Given the description of an element on the screen output the (x, y) to click on. 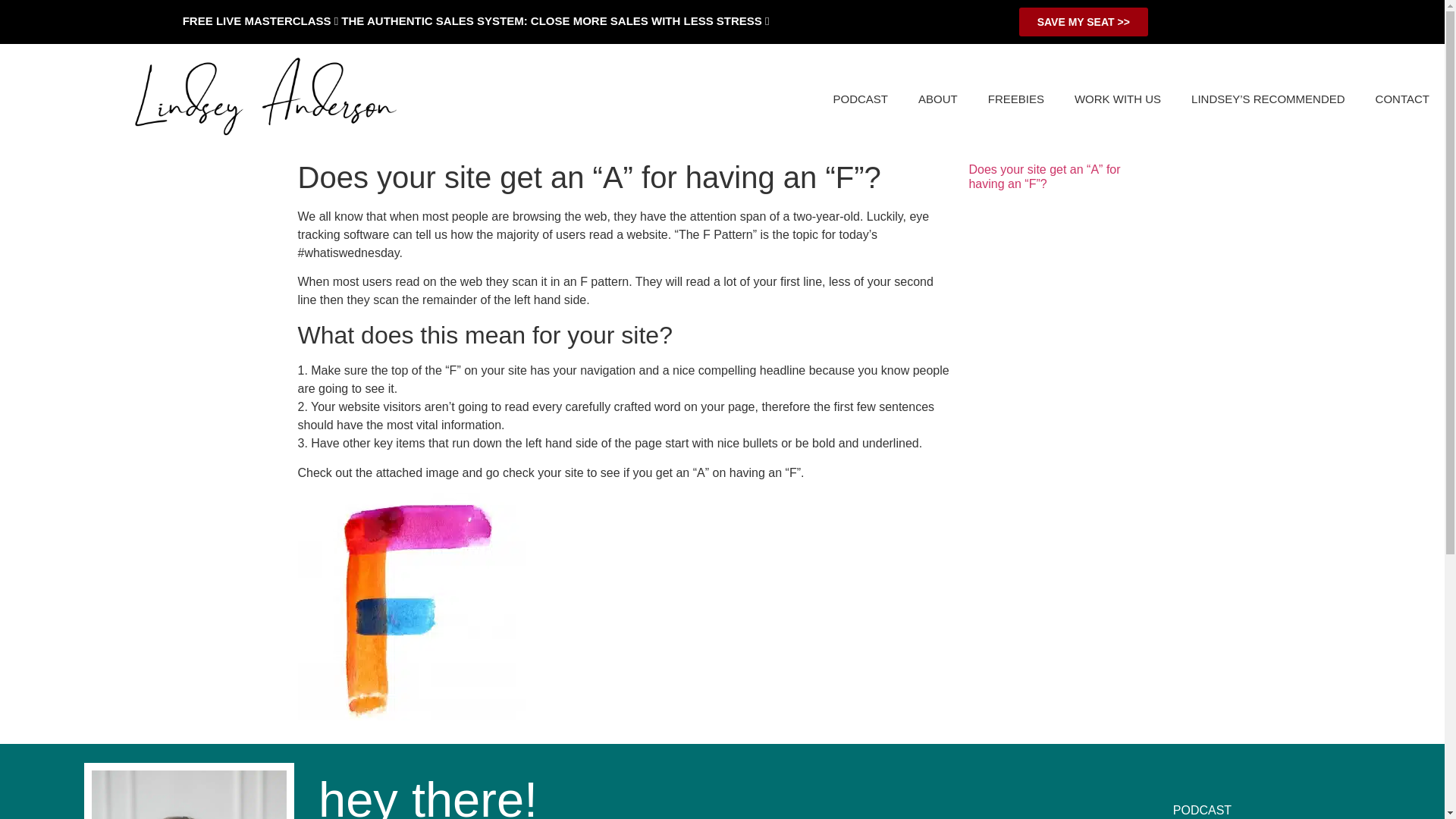
ABOUT (937, 99)
WORK WITH US (1117, 99)
PODCAST (861, 99)
PODCAST (1202, 806)
FREEBIES (1015, 99)
